Given the description of an element on the screen output the (x, y) to click on. 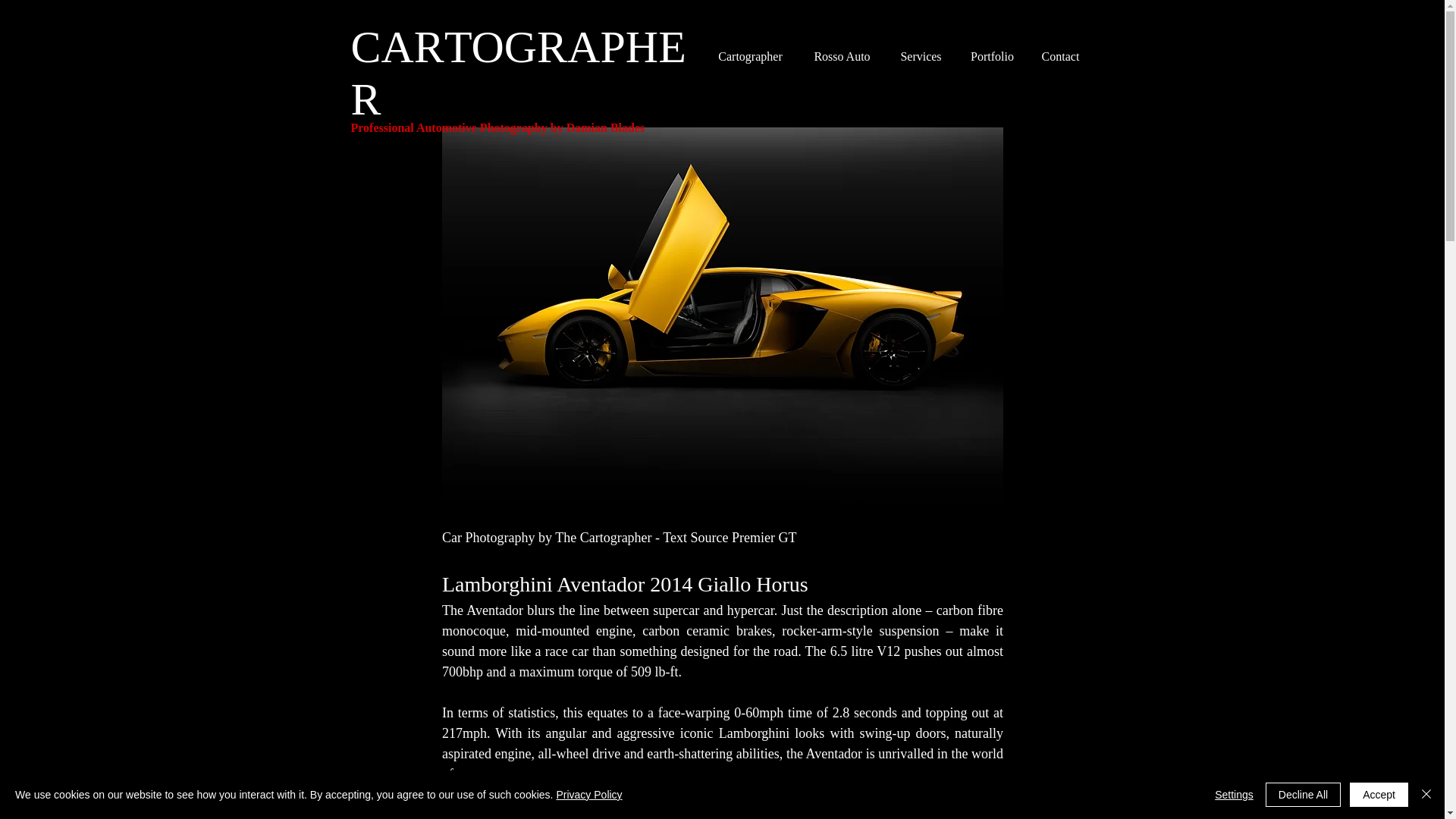
Privacy Policy (588, 794)
Rosso Auto (842, 56)
Accept (1378, 794)
Decline All (1302, 794)
CARTOGRAPHER (517, 73)
Contact (1060, 56)
Cartographer (750, 56)
